Given the description of an element on the screen output the (x, y) to click on. 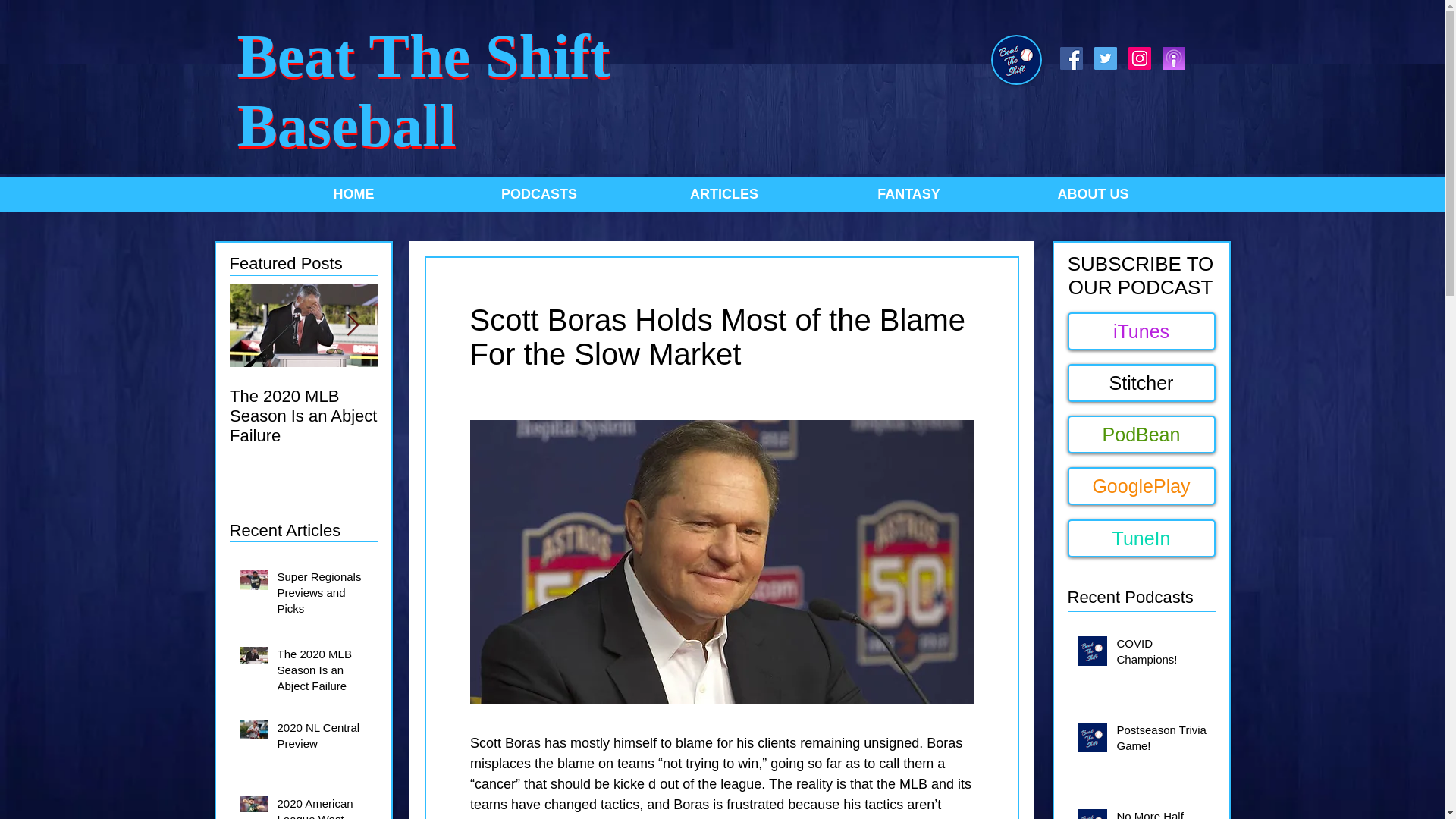
Response to Racial Injustice (598, 405)
Stitcher (1141, 382)
The 2020 MLB Season Is an Abject Failure (323, 673)
2020 American League West Preview (323, 807)
Postseason Trivia Game! (1162, 740)
ABOUT US (1093, 193)
No More Half Measures! (1162, 813)
TuneIn (1141, 538)
PODCASTS (537, 193)
HOME (352, 193)
FANTASY (907, 193)
iTunes (1141, 331)
Charge the Dugout! (451, 396)
ARTICLES (722, 193)
Super Regionals Previews and Picks (323, 595)
